Given the description of an element on the screen output the (x, y) to click on. 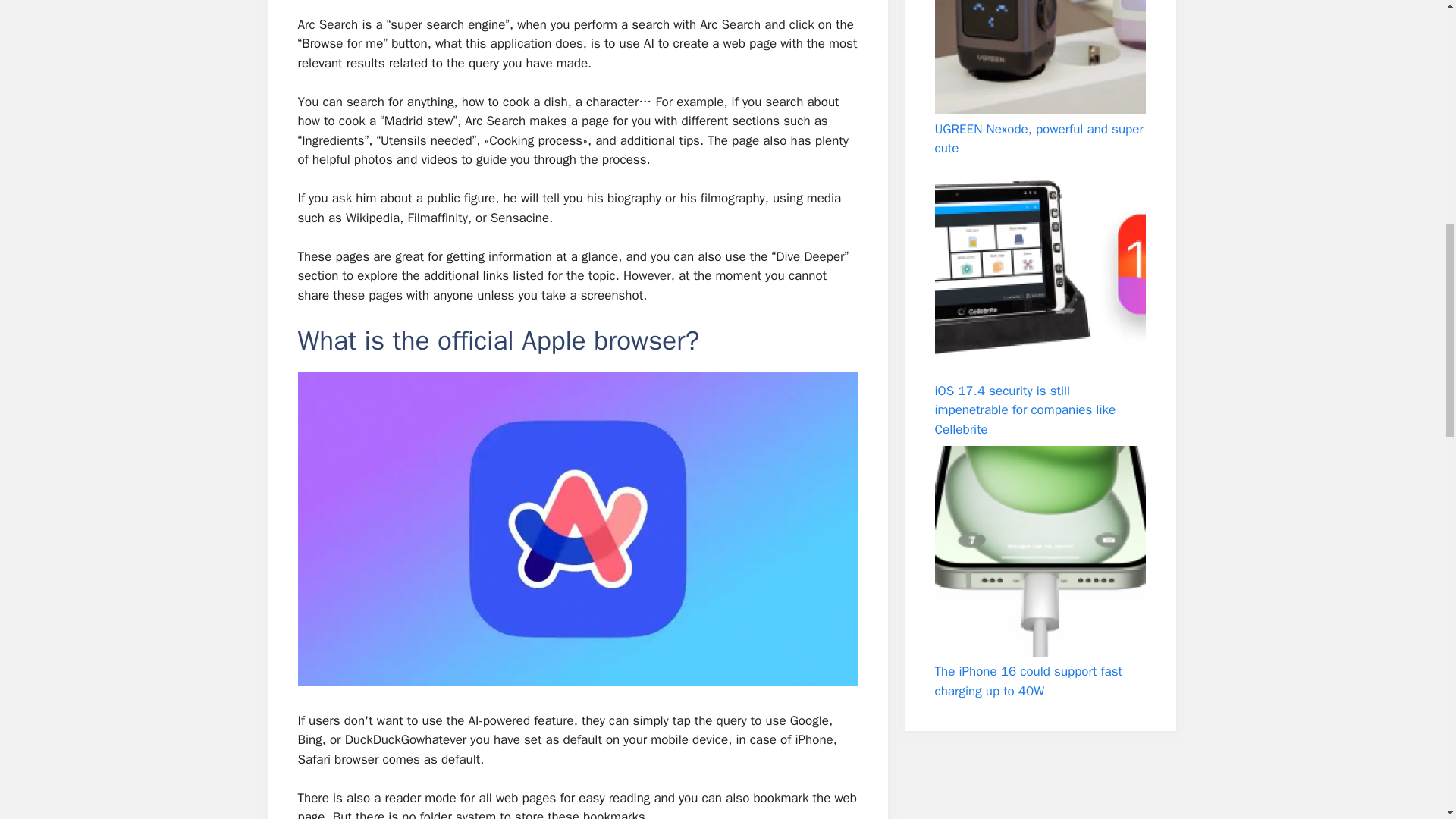
Scroll back to top (1406, 720)
UGREEN Nexode, powerful and super cute (1038, 139)
UGREEN Nexode, powerful and super cute (1039, 56)
The iPhone 16 could support fast charging up to 40W (1028, 681)
The iPhone 16 could support fast charging up to 40W (1039, 550)
